Given the description of an element on the screen output the (x, y) to click on. 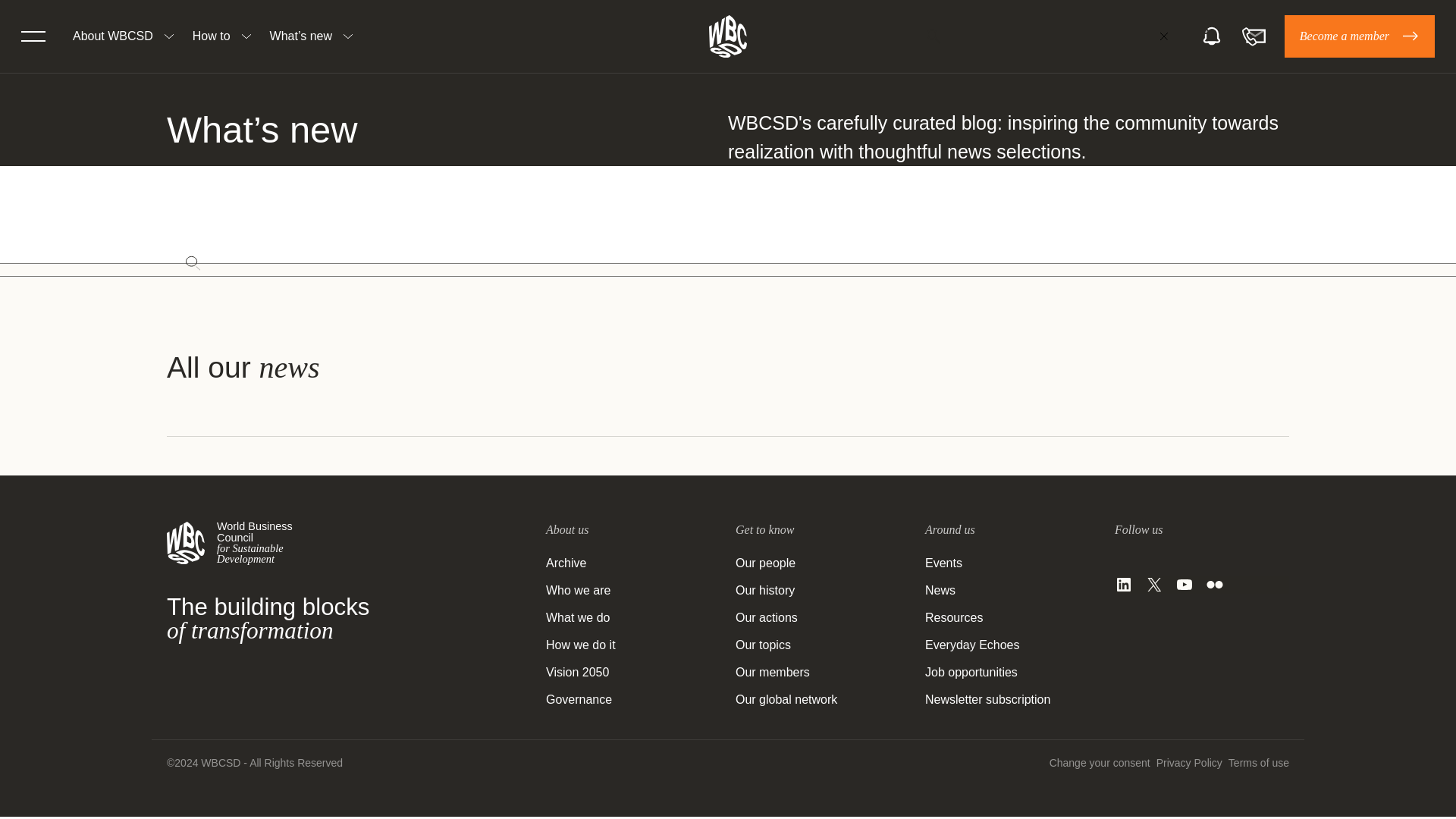
How to (210, 36)
Become a member (1359, 36)
About WBCSD (112, 36)
